Given the description of an element on the screen output the (x, y) to click on. 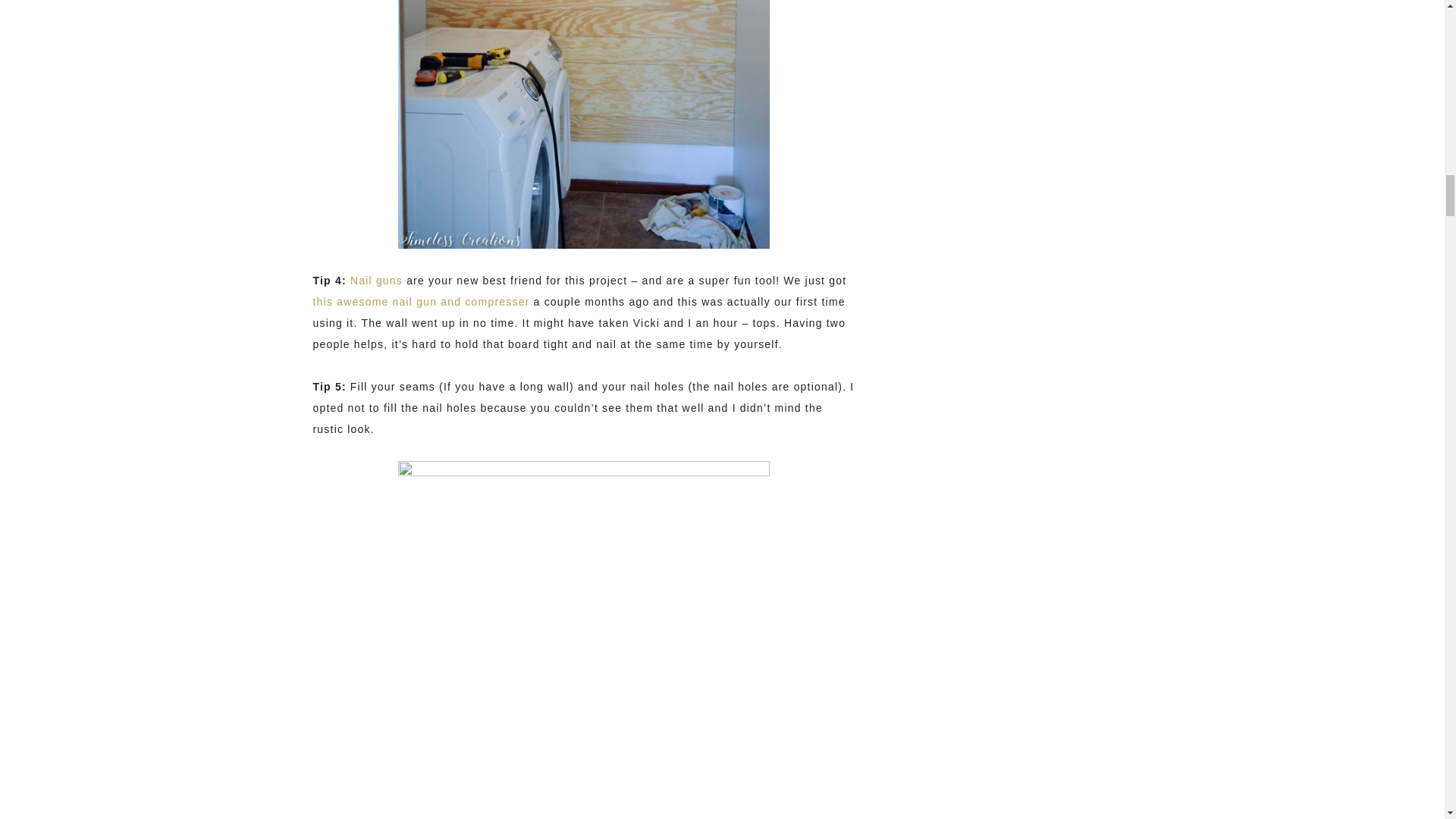
Nail guns (376, 280)
this awesome nail gun and compresser (421, 301)
